Given the description of an element on the screen output the (x, y) to click on. 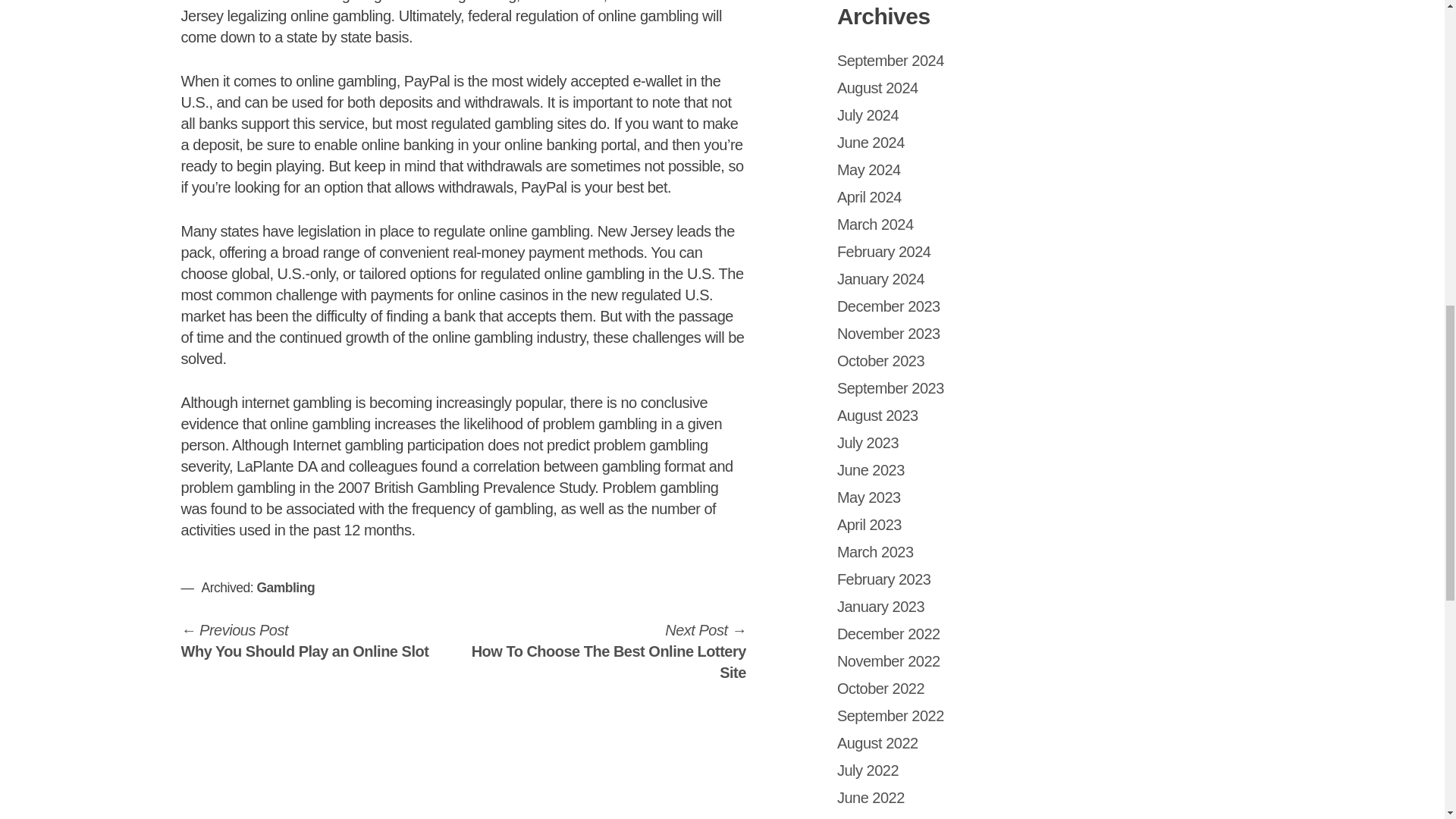
April 2024 (869, 197)
June 2023 (870, 469)
April 2023 (869, 524)
October 2023 (880, 360)
July 2024 (867, 115)
December 2022 (888, 633)
August 2024 (877, 87)
November 2023 (888, 333)
July 2023 (867, 442)
September 2023 (890, 388)
